Given the description of an element on the screen output the (x, y) to click on. 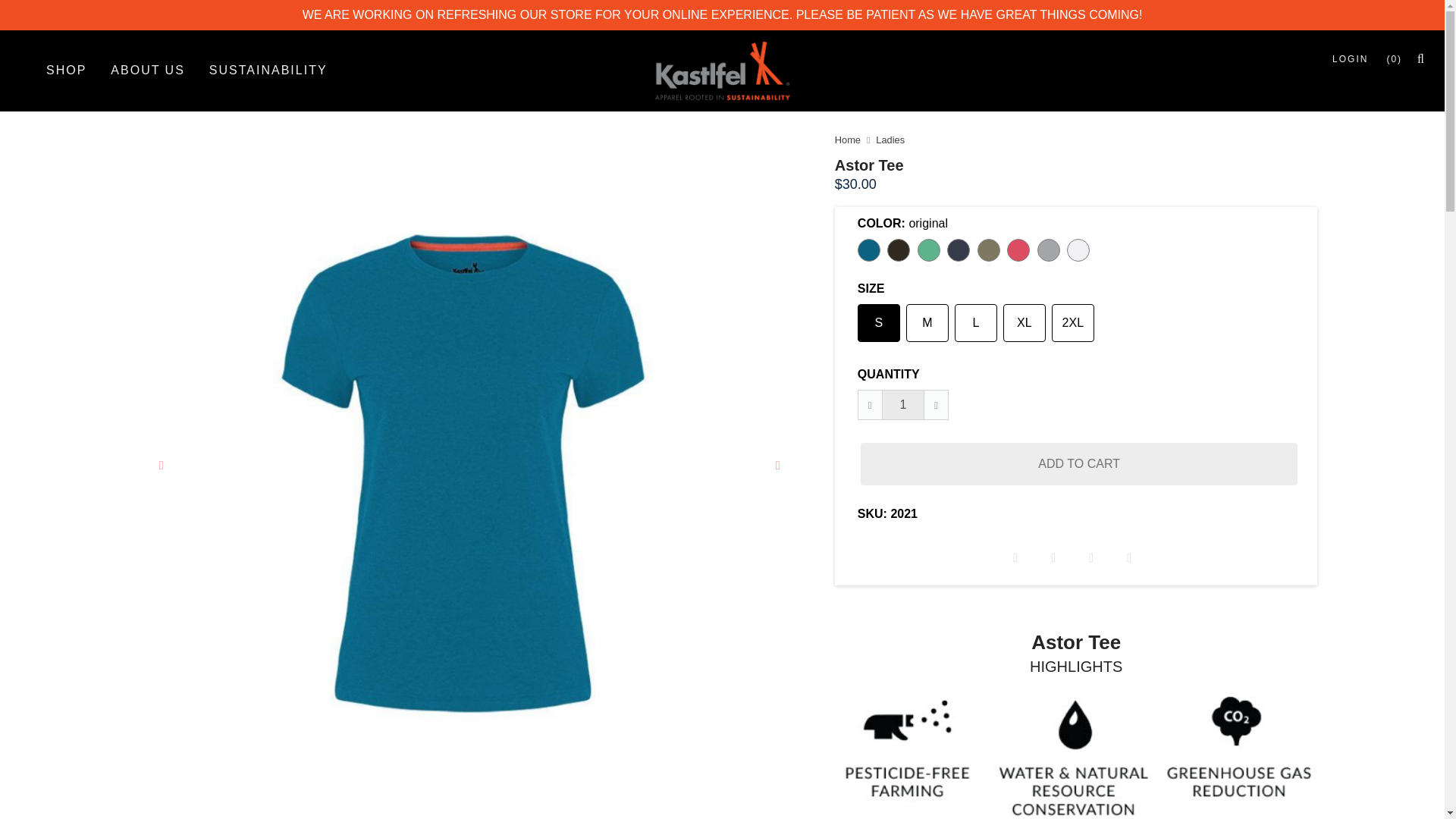
SUSTAINABILITY (267, 70)
LOGIN (1349, 58)
1 (903, 404)
SHOP (66, 70)
ABOUT US (147, 70)
